Given the description of an element on the screen output the (x, y) to click on. 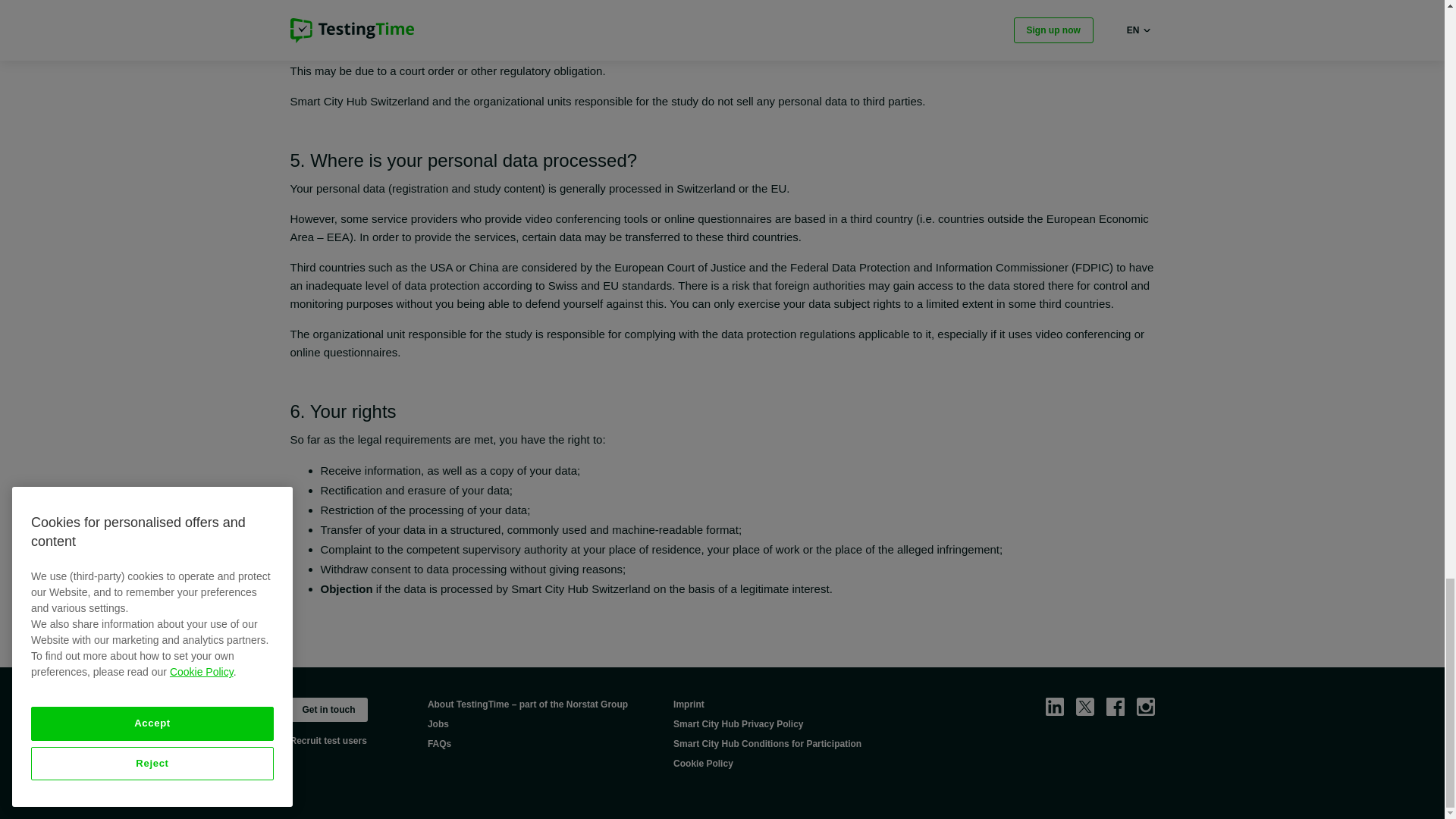
Smart City Hub Privacy Policy (737, 724)
Get in touch (327, 709)
FAQs (439, 744)
Cookie Policy (702, 763)
Imprint (688, 704)
Jobs (438, 724)
Recruit test users (335, 740)
Smart City Hub Conditions for Participation (766, 744)
